Given the description of an element on the screen output the (x, y) to click on. 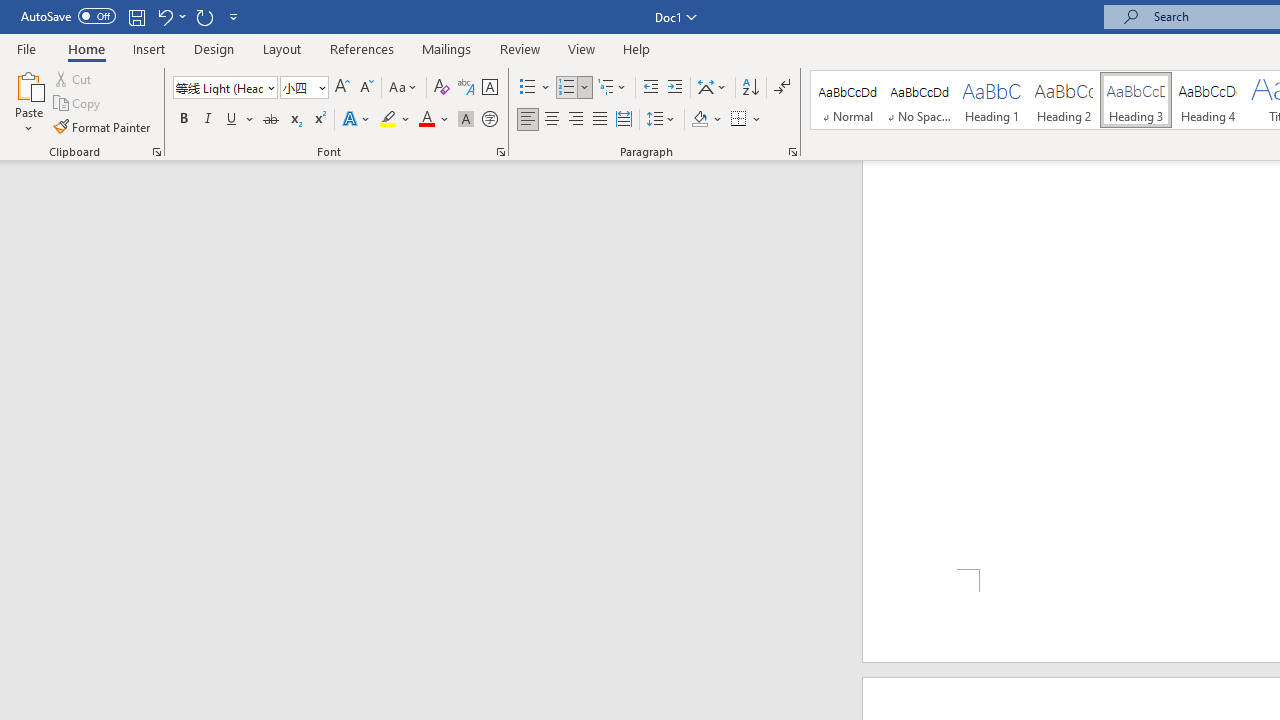
Heading 2 (1063, 100)
